Given the description of an element on the screen output the (x, y) to click on. 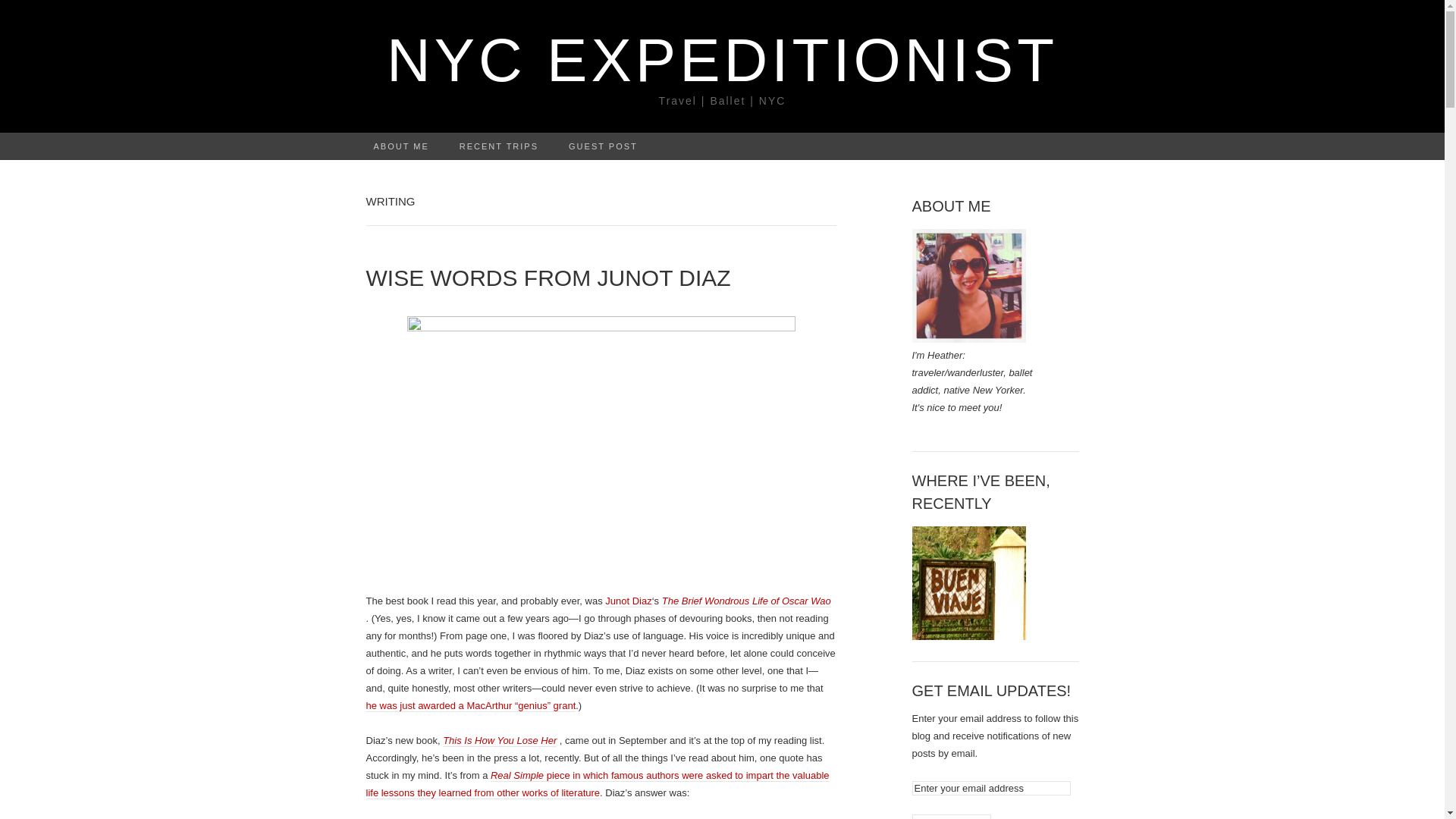
RECENT TRIPS (498, 145)
The Brief Wondrous Life of Oscar Wao (746, 601)
This Is How You Lose Her (499, 740)
WISE WORDS FROM JUNOT DIAZ (600, 277)
Follow (950, 816)
Search (16, 12)
ABOUT ME (401, 145)
Junot Diaz (600, 445)
GUEST POST (602, 145)
5 Lessons You Can Learn From Classic Novels (596, 784)
